Given the description of an element on the screen output the (x, y) to click on. 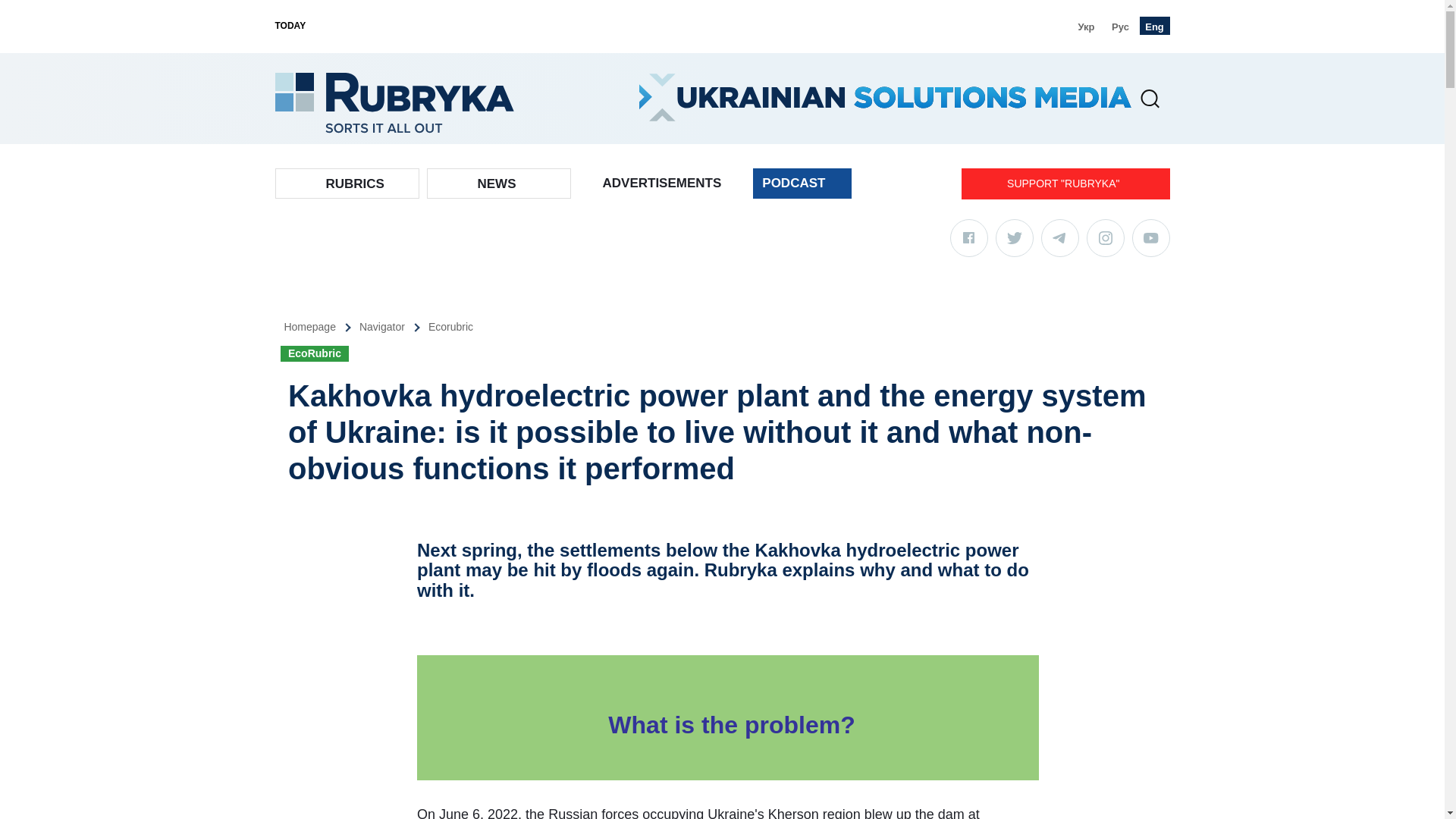
Homepage (320, 326)
Eng (1153, 25)
PODCAST (802, 183)
ADVERTISEMENTS (660, 183)
NEWS (497, 183)
Navigator (393, 326)
SUPPORT "RUBRYKA" (1064, 183)
RUBRICS (354, 183)
